Given the description of an element on the screen output the (x, y) to click on. 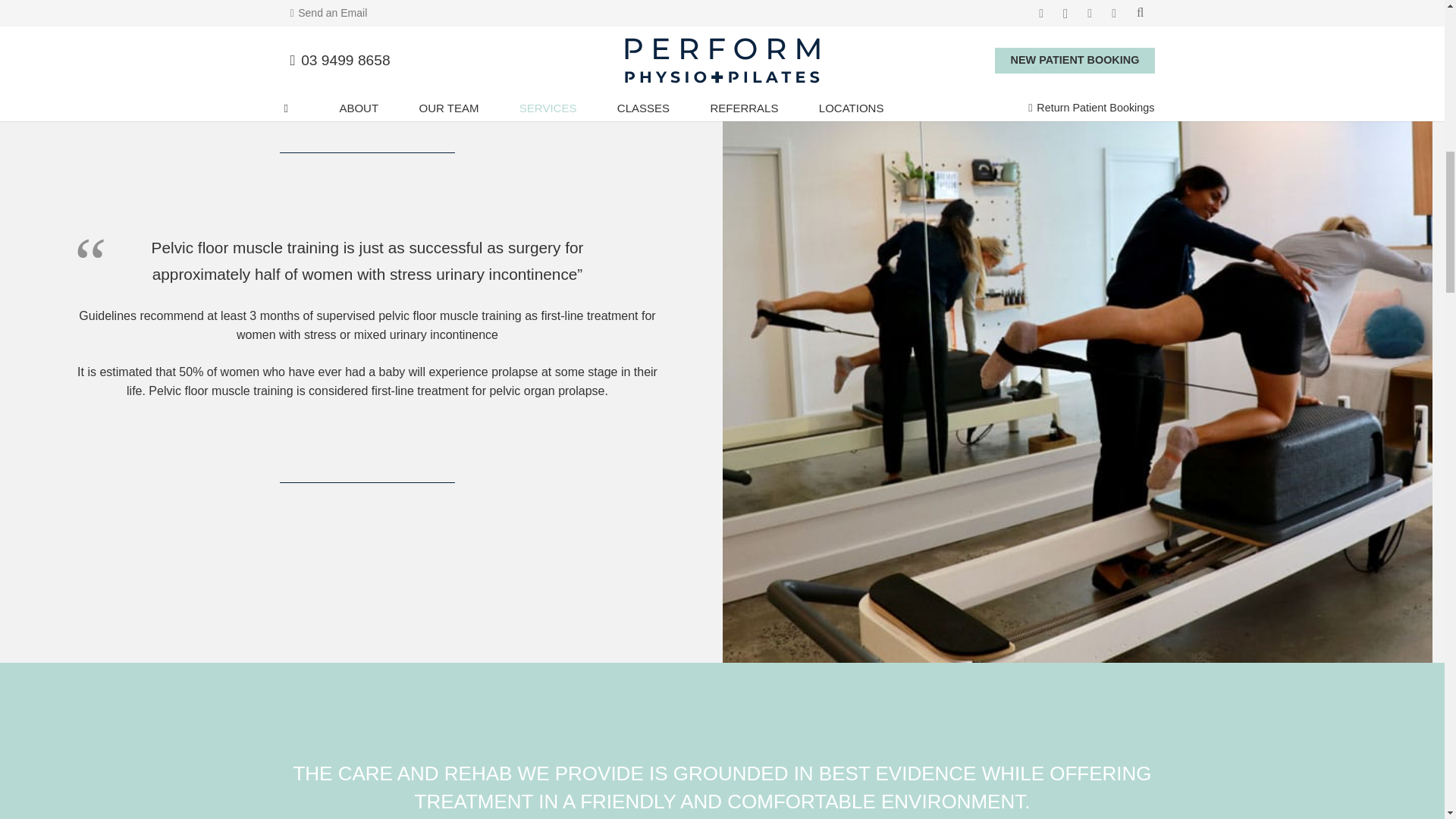
Back to top (30, 26)
